Given the description of an element on the screen output the (x, y) to click on. 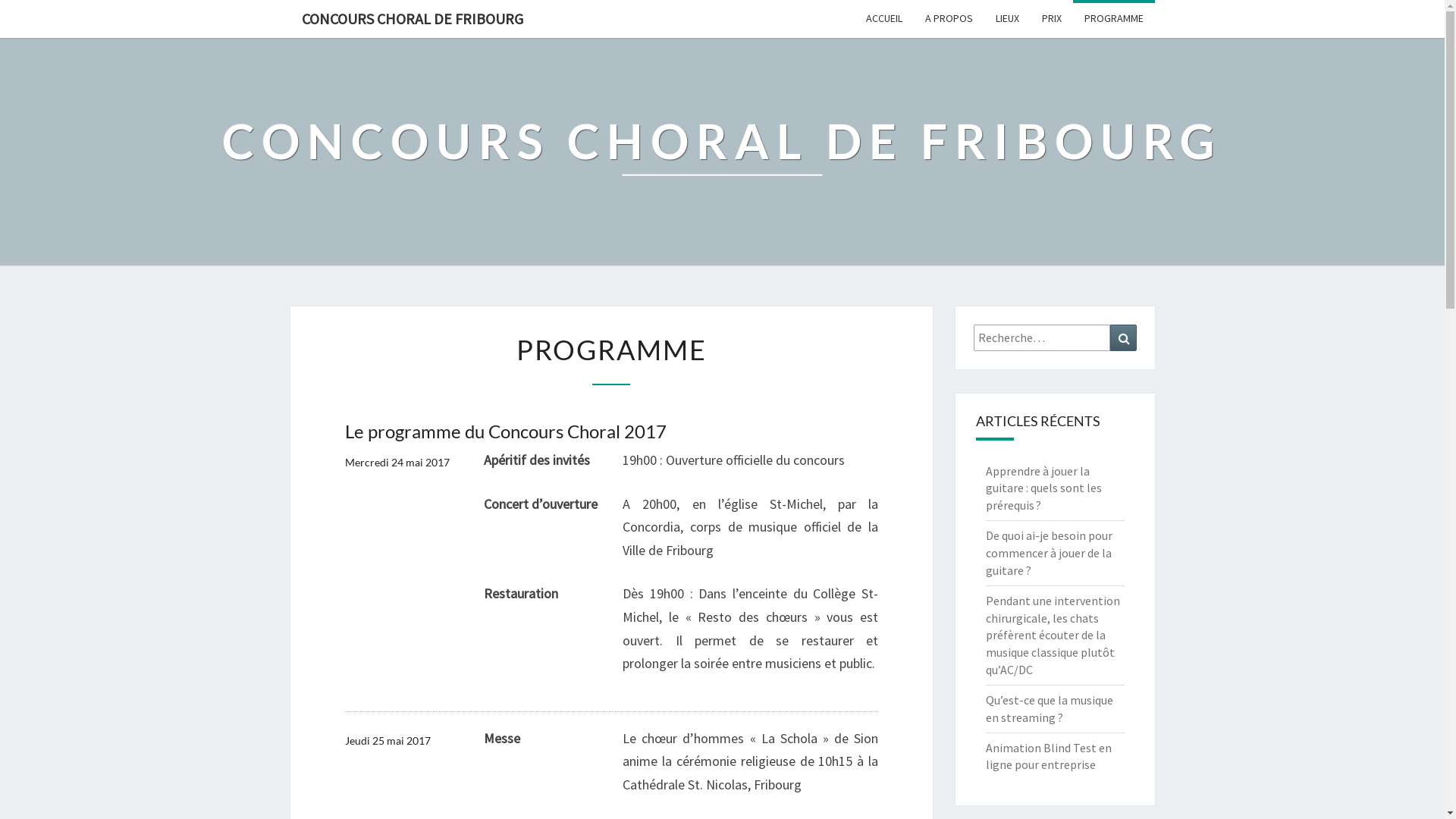
CONCOURS CHORAL DE FRIBOURG Element type: text (722, 151)
LIEUX Element type: text (1007, 18)
ACCUEIL Element type: text (883, 18)
PRIX Element type: text (1050, 18)
Recherche Element type: text (1123, 337)
CONCOURS CHORAL DE FRIBOURG Element type: text (411, 18)
A PROPOS Element type: text (948, 18)
Animation Blind Test en ligne pour entreprise Element type: text (1048, 756)
PROGRAMME Element type: text (1113, 18)
